Given the description of an element on the screen output the (x, y) to click on. 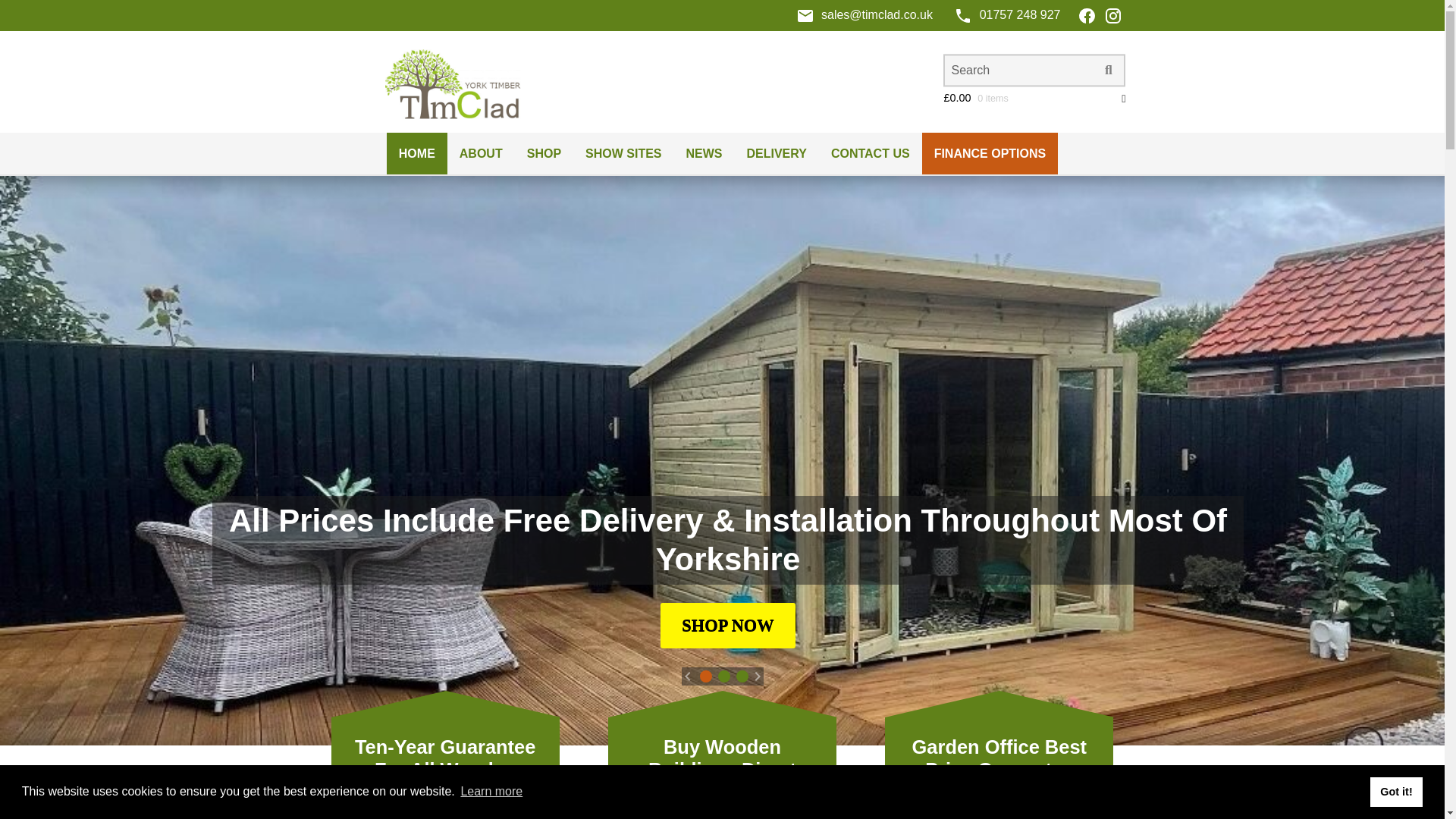
TIMCLAD LIMITED YORK TIMBER (727, 68)
